Given the description of an element on the screen output the (x, y) to click on. 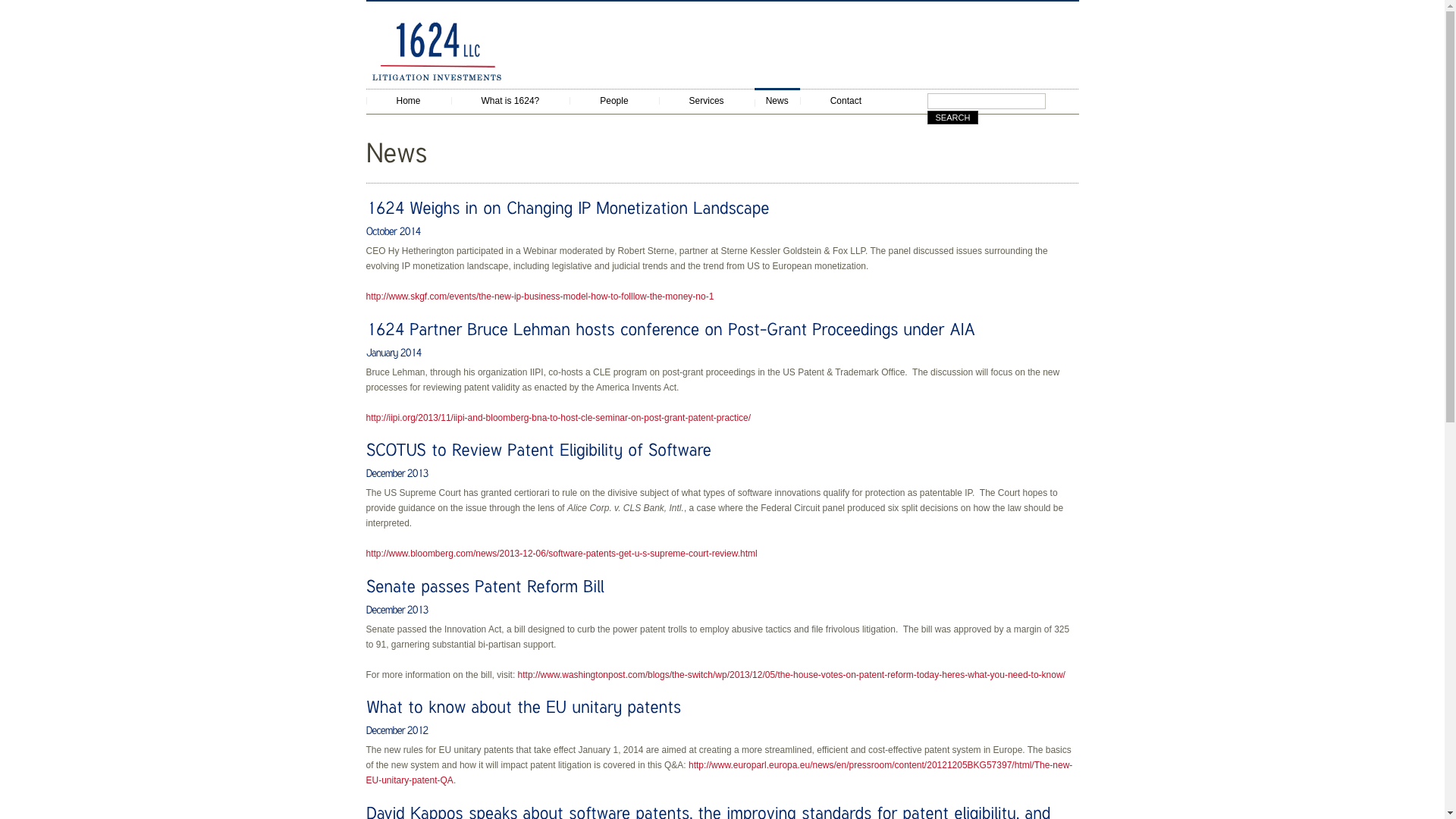
Home Element type: text (407, 99)
News Element type: text (777, 101)
Contact Element type: text (845, 99)
Services Element type: text (706, 99)
Search Element type: text (952, 117)
What is 1624? Element type: text (510, 99)
People Element type: text (613, 99)
